Given the description of an element on the screen output the (x, y) to click on. 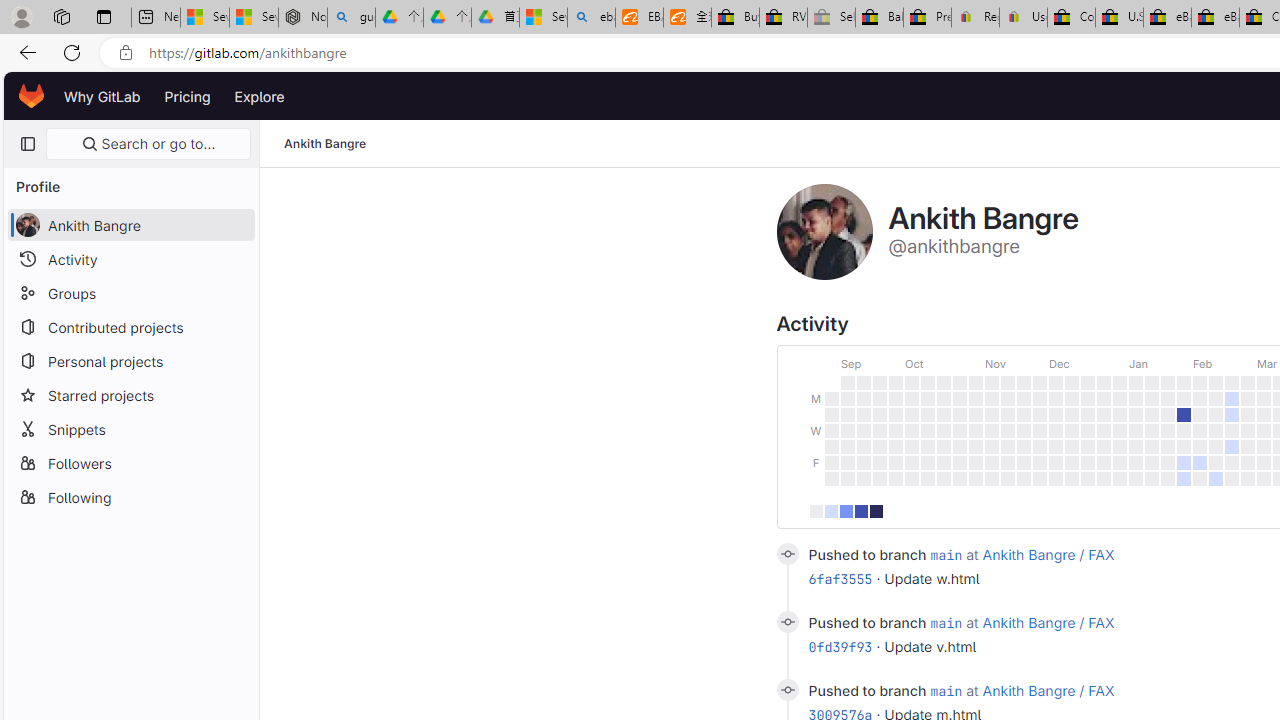
Primary navigation sidebar (27, 143)
Ankith Bangre (325, 143)
No contributions (815, 510)
